Given the description of an element on the screen output the (x, y) to click on. 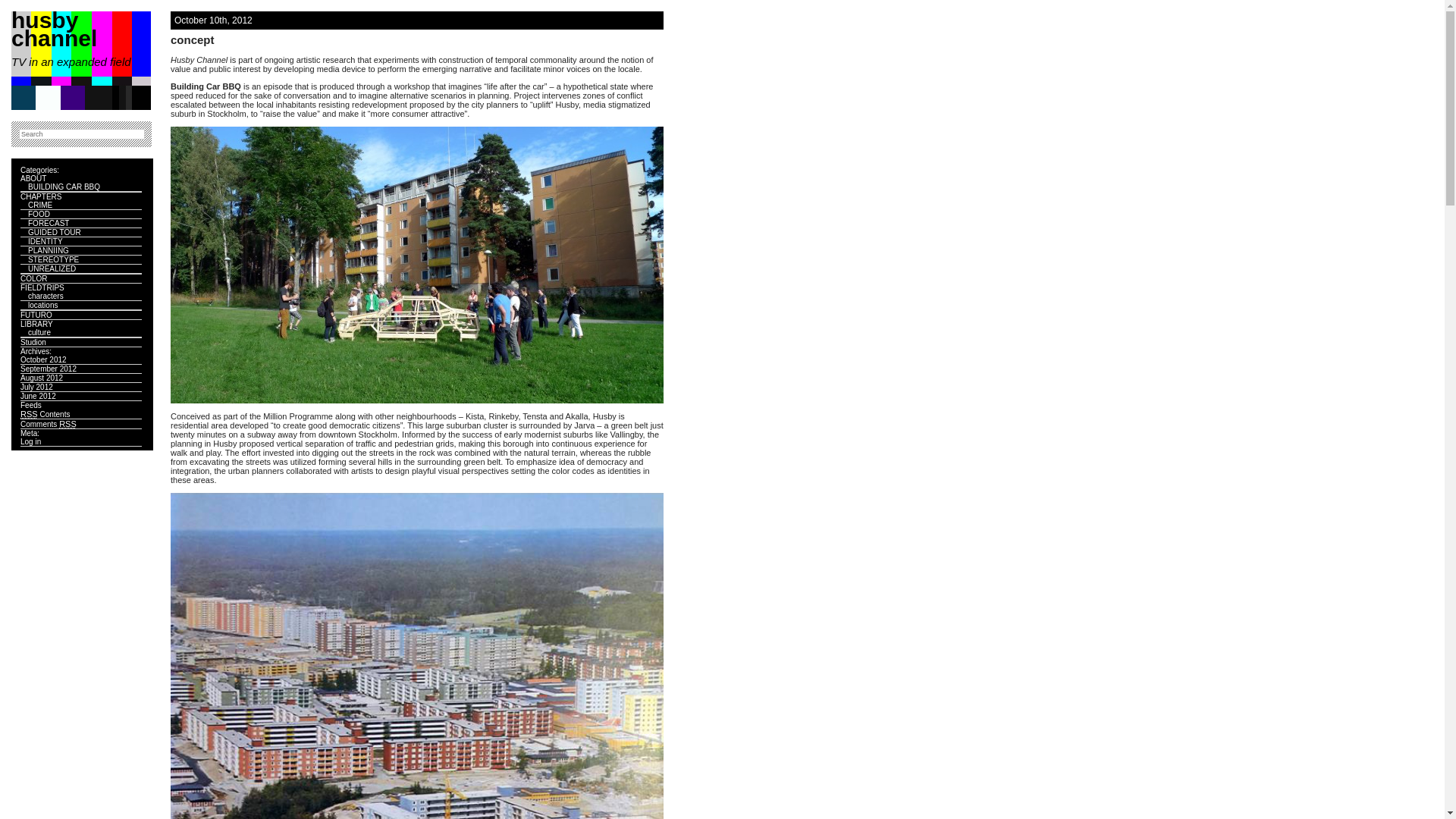
Log in Element type: text (30, 441)
STEREOTYPE Element type: text (53, 259)
husby channel Element type: text (54, 28)
PLANNIING Element type: text (48, 250)
CRIME Element type: text (40, 204)
CHAPTERS Element type: text (40, 196)
locations Element type: text (42, 305)
RSS Contents Element type: text (44, 414)
IDENTITY Element type: text (45, 241)
culture Element type: text (39, 332)
September 2012 Element type: text (48, 368)
FOOD Element type: text (39, 214)
LIBRARY Element type: text (36, 324)
FUTURO Element type: text (36, 314)
Studion Element type: text (33, 342)
ABOUT Element type: text (33, 178)
COLOR Element type: text (33, 278)
August 2012 Element type: text (41, 377)
UNREALIZED Element type: text (51, 268)
concept Element type: text (192, 39)
FIELDTRIPS Element type: text (42, 287)
June 2012 Element type: text (38, 396)
October 2012 Element type: text (43, 359)
Comments RSS Element type: text (48, 424)
July 2012 Element type: text (36, 386)
FORECAST Element type: text (48, 223)
GUIDED TOUR Element type: text (54, 232)
BUILDING CAR BBQ Element type: text (64, 186)
characters Element type: text (45, 295)
